Given the description of an element on the screen output the (x, y) to click on. 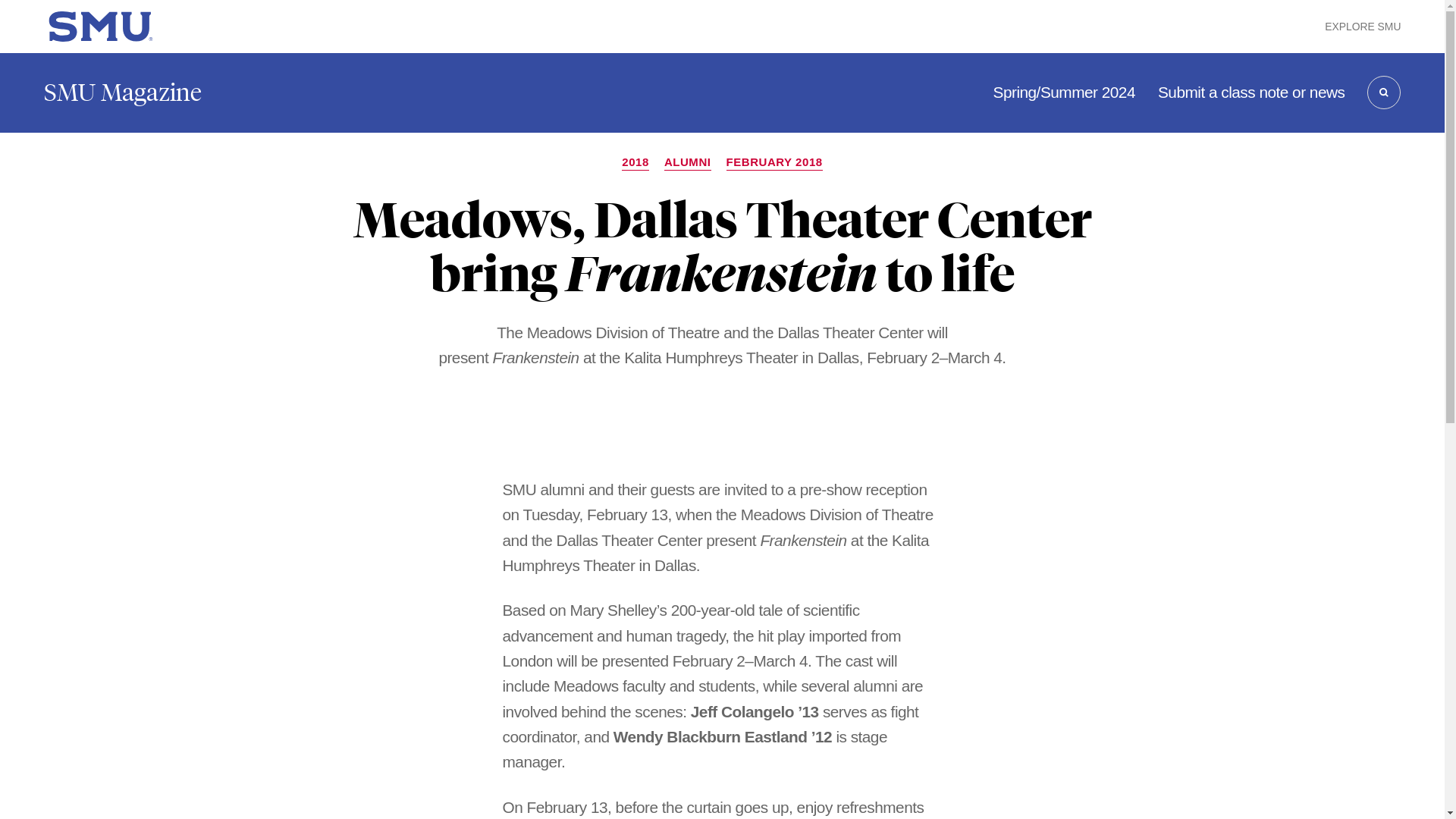
EXPLORE SMU (1362, 26)
SEARCH (1383, 92)
2018 (635, 162)
FEBRUARY 2018 (774, 162)
SMU Magazine (122, 92)
Submit a class note or news (1250, 92)
ALUMNI (687, 162)
